Given the description of an element on the screen output the (x, y) to click on. 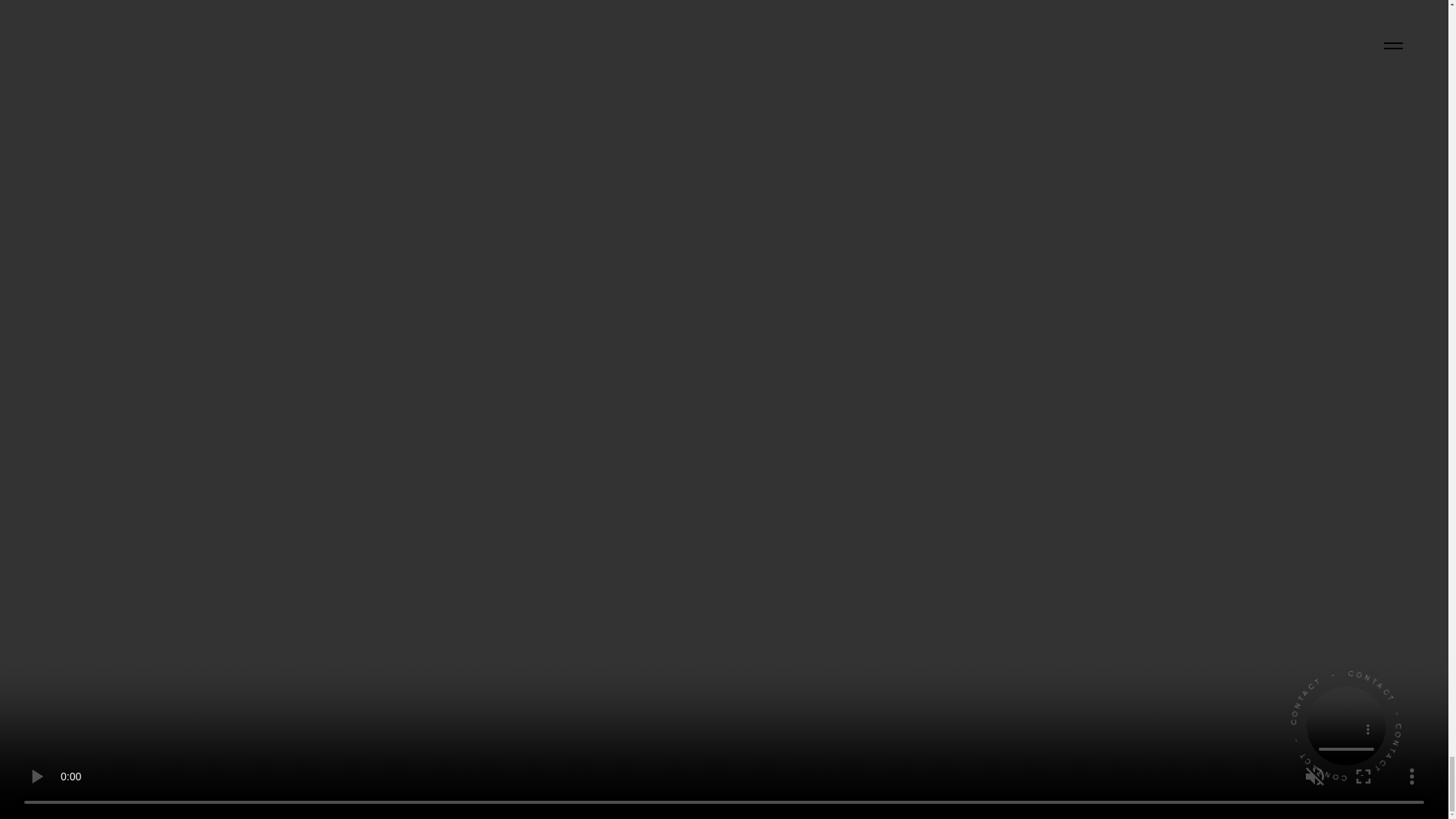
TELL US (724, 534)
